Given the description of an element on the screen output the (x, y) to click on. 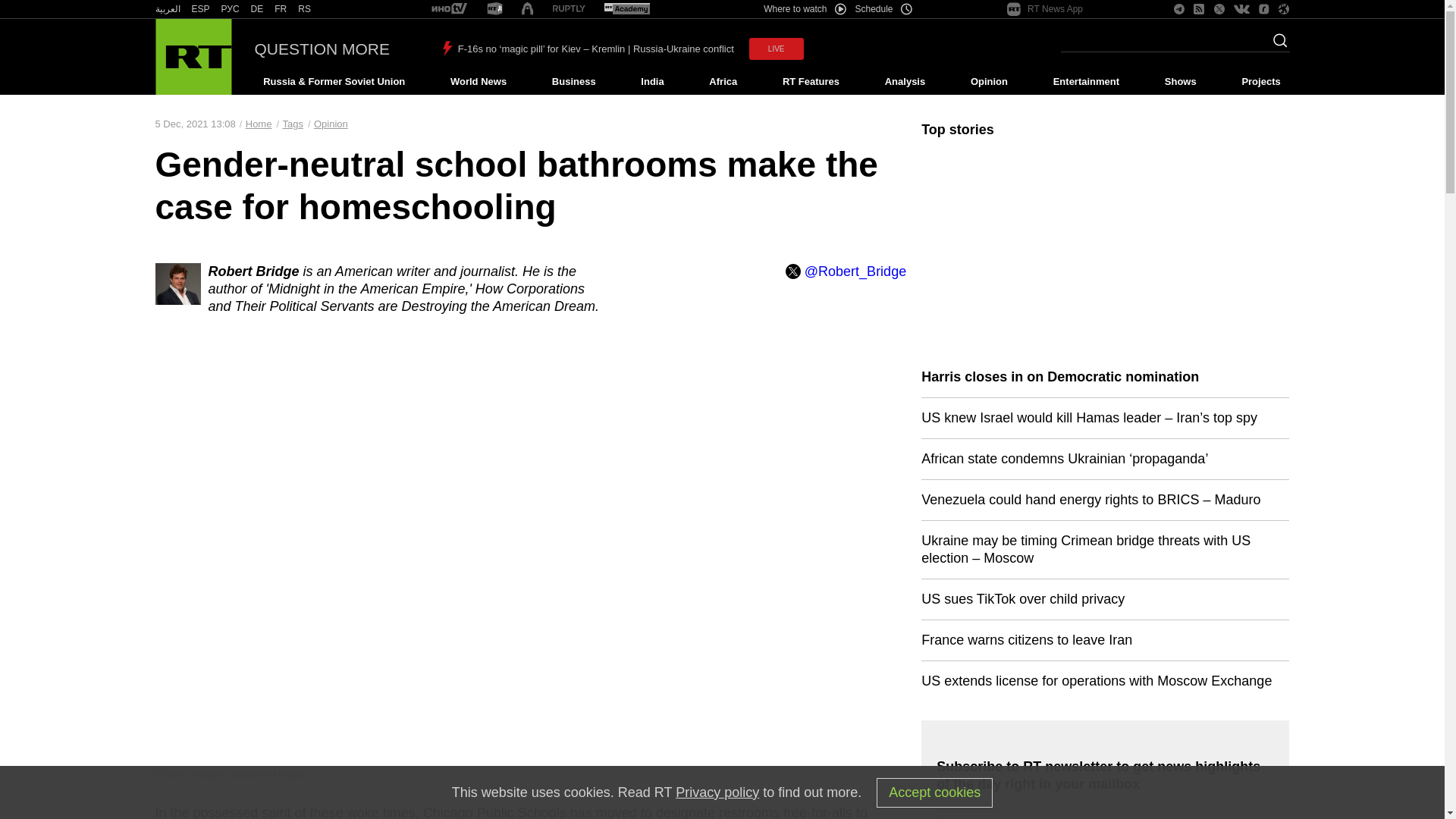
Projects (1261, 81)
India (651, 81)
Business (573, 81)
RT  (199, 9)
Where to watch (803, 9)
RT  (304, 9)
RT  (166, 9)
Search (1276, 44)
RT  (280, 9)
Africa (722, 81)
RT  (626, 9)
RT  (448, 9)
RT  (230, 9)
RS (304, 9)
Entertainment (1085, 81)
